Given the description of an element on the screen output the (x, y) to click on. 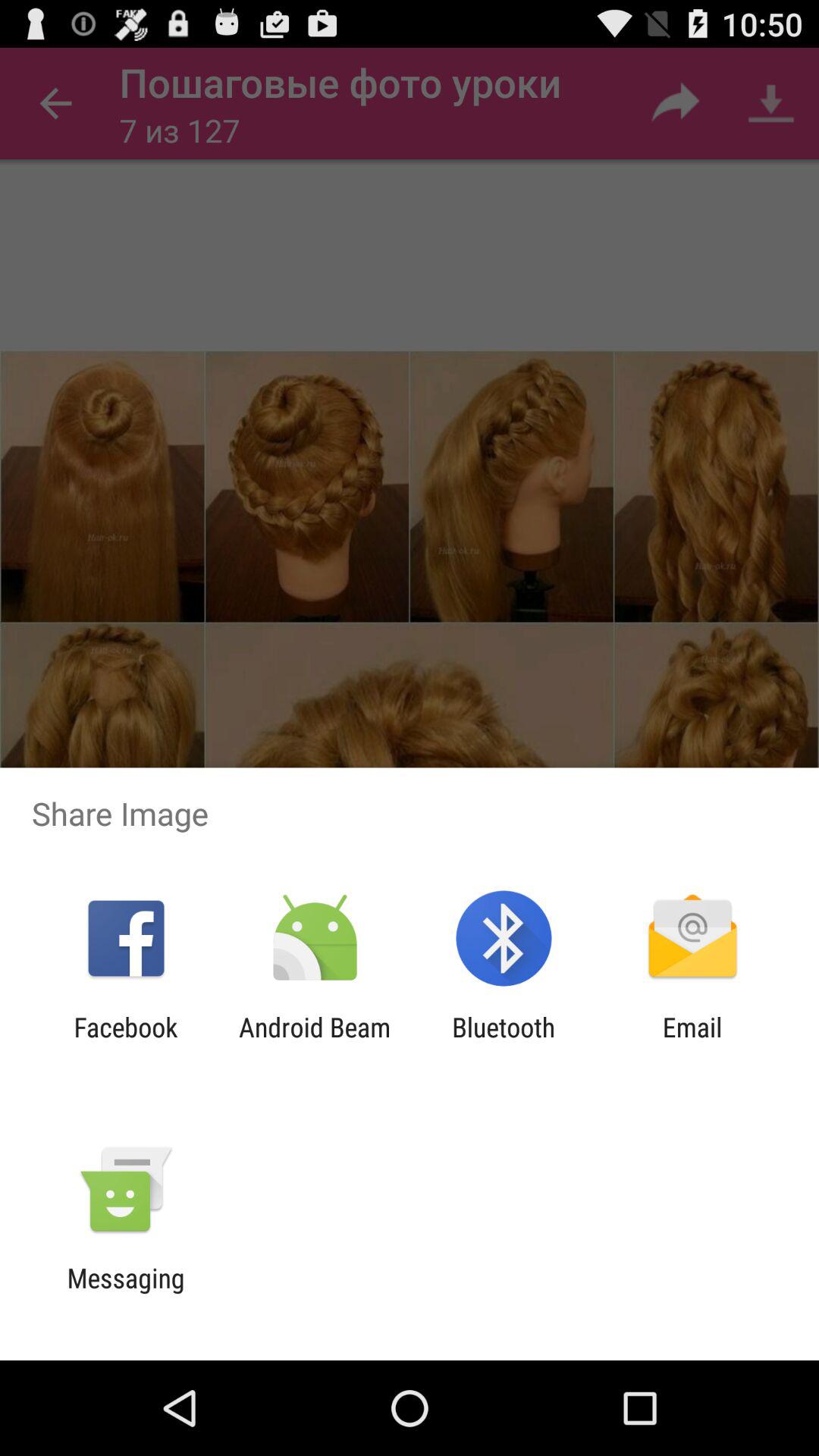
select item to the left of the email app (503, 1042)
